Given the description of an element on the screen output the (x, y) to click on. 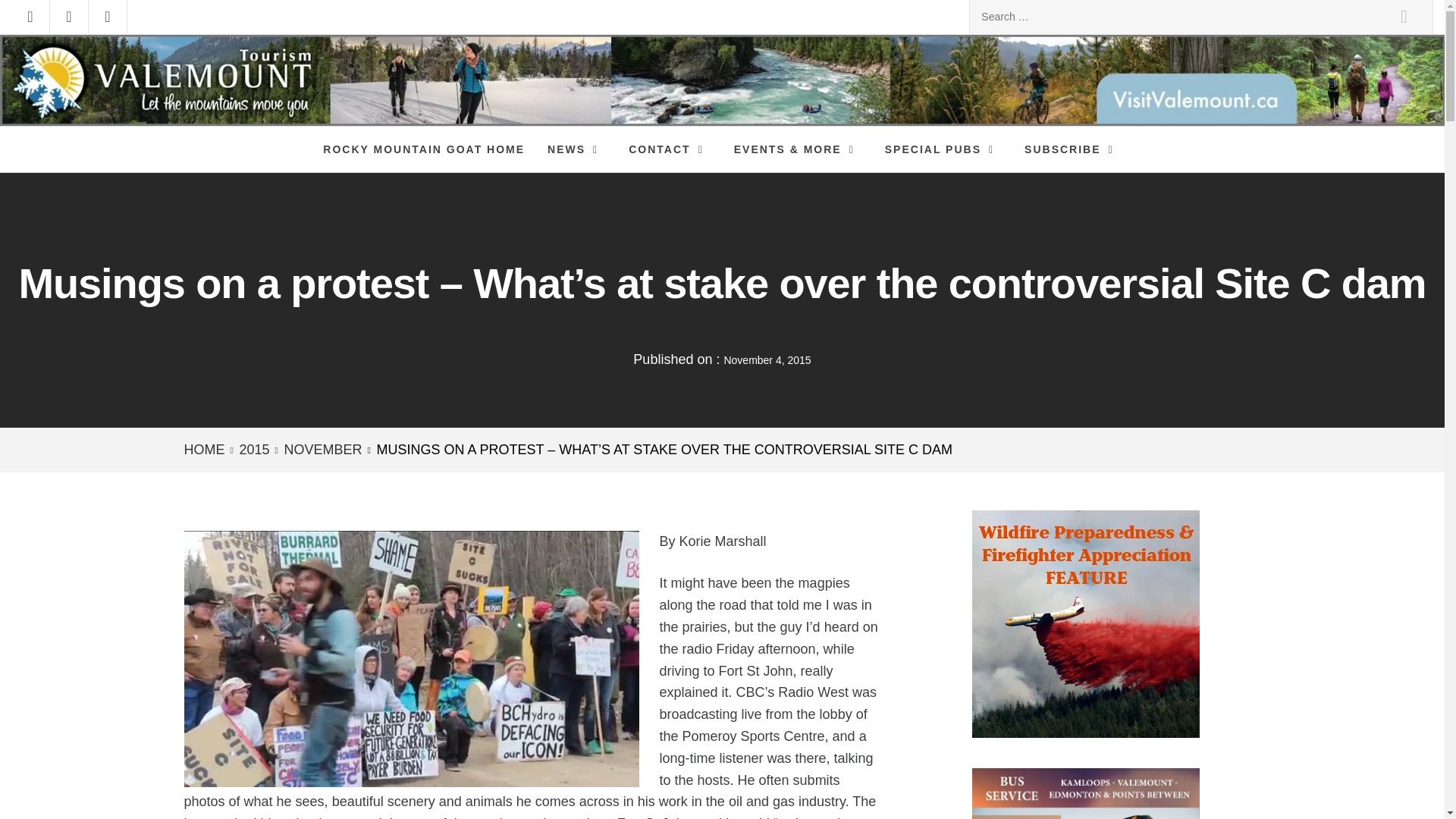
CONTACT (669, 148)
Search (1403, 17)
SPECIAL PUBS (943, 148)
Search (1403, 17)
HOME (206, 449)
2015 (252, 449)
SUBSCRIBE (1072, 148)
NEWS (576, 148)
Search (1403, 17)
ROCKY MOUNTAIN GOAT HOME (423, 148)
NOVEMBER (321, 449)
November 4, 2015 (766, 359)
